Given the description of an element on the screen output the (x, y) to click on. 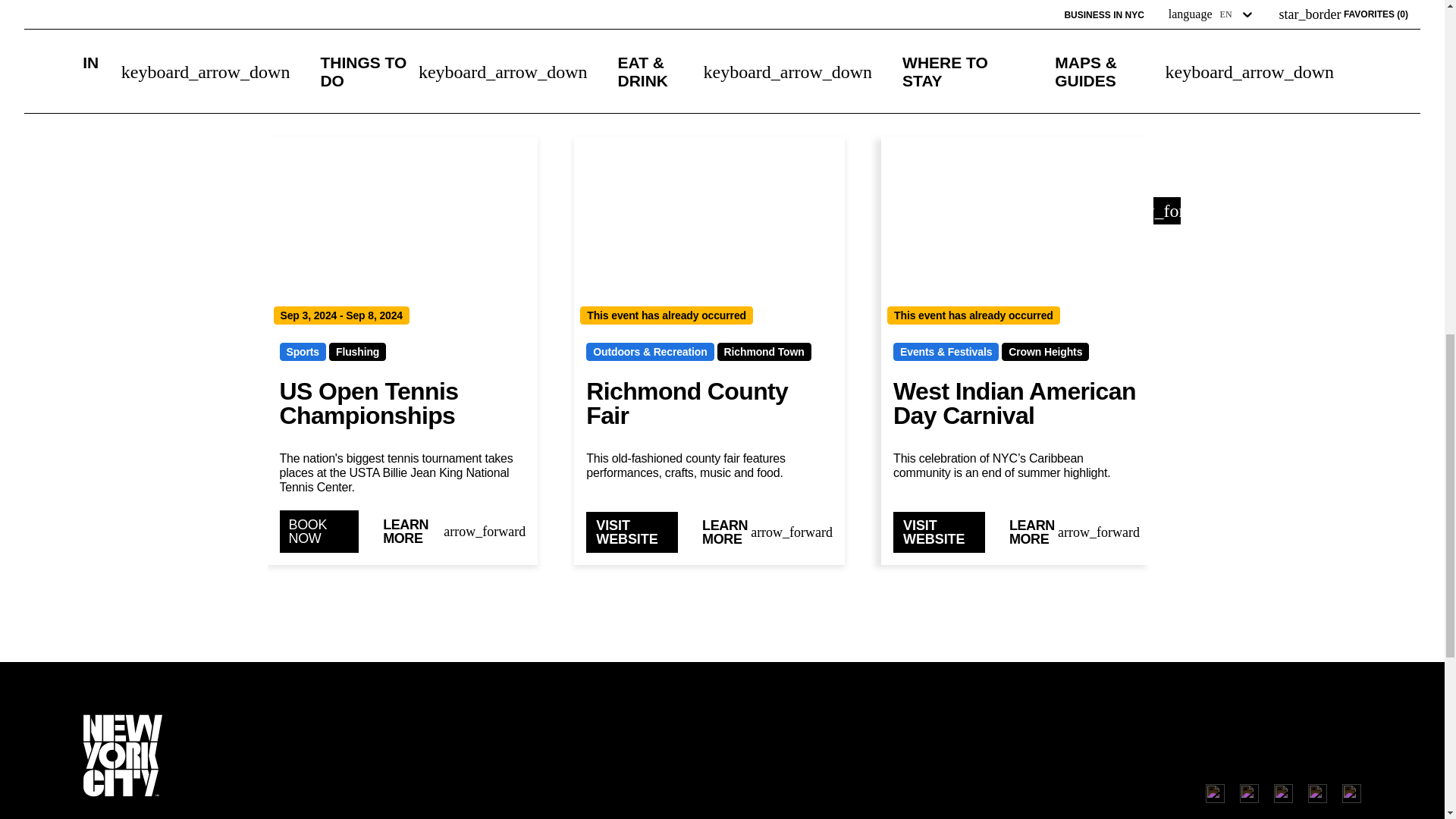
Richmond County Fair (709, 404)
VISIT WEBSITE (939, 531)
New York City Tourism and Conventions YouTube (1316, 793)
New York City Tourism and Conventions Facebook (1249, 793)
West Indian American Day Carnival (1016, 404)
This event has already occurred (708, 233)
VISIT WEBSITE (632, 531)
New York City Tourism and Conventions Instagram (1214, 793)
New York City Tourism and Conventions TikTok (1283, 793)
New York City Tourism and Conventions Pinterest (1351, 793)
